Given the description of an element on the screen output the (x, y) to click on. 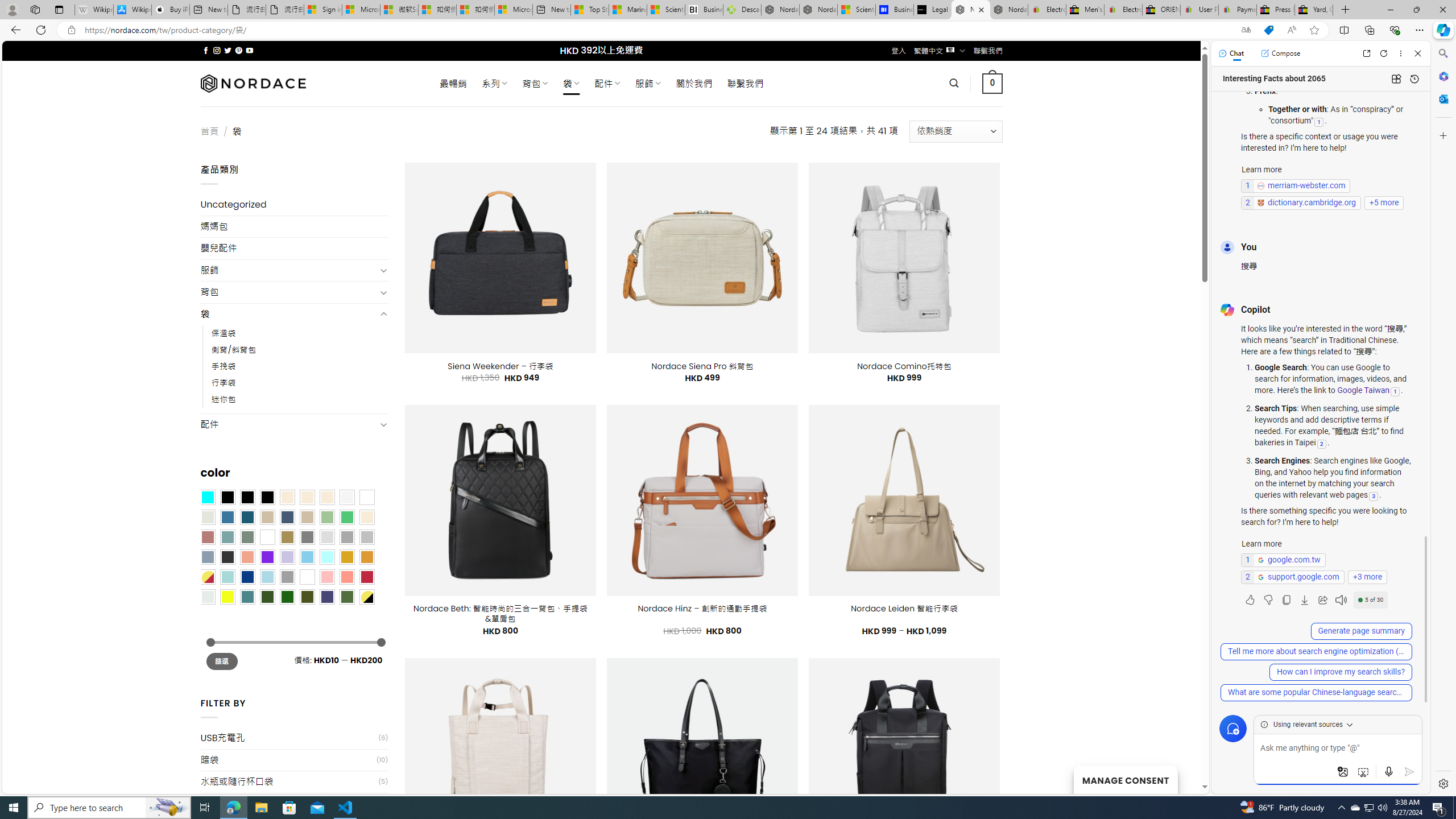
Show translate options (1245, 29)
Dull Nickle (207, 596)
